Given the description of an element on the screen output the (x, y) to click on. 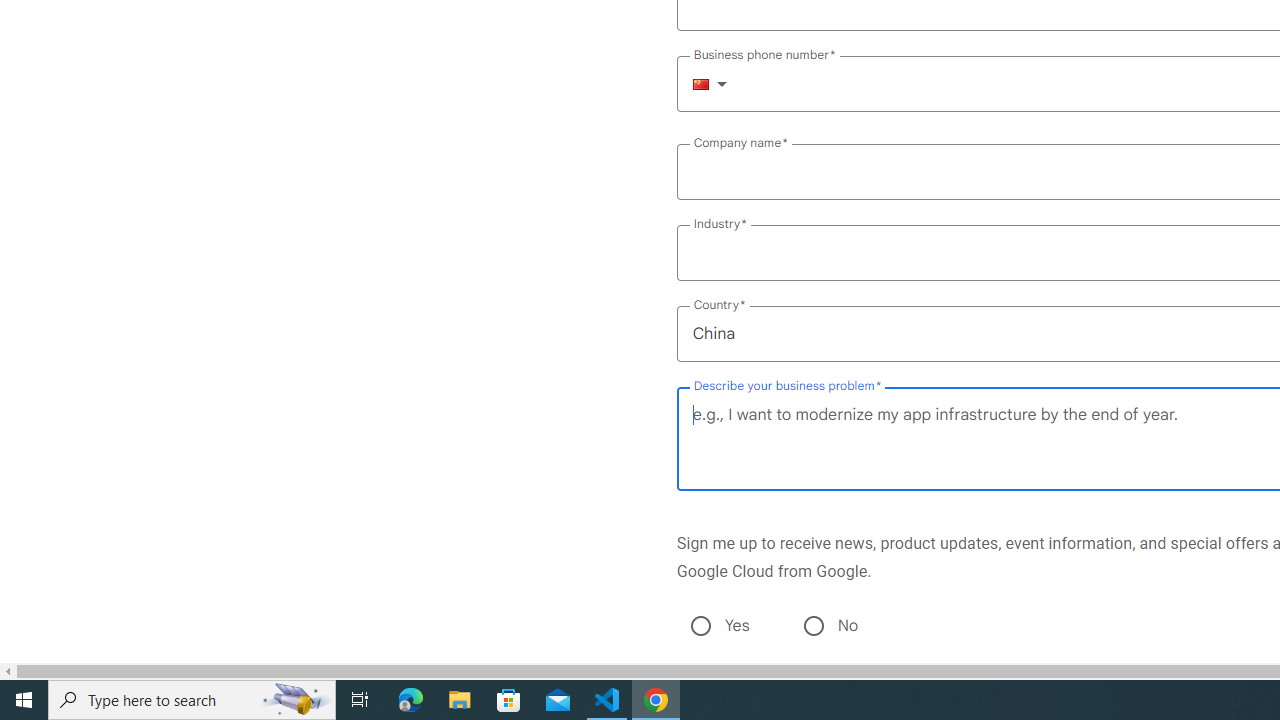
Yes (699, 625)
No (813, 625)
